Given the description of an element on the screen output the (x, y) to click on. 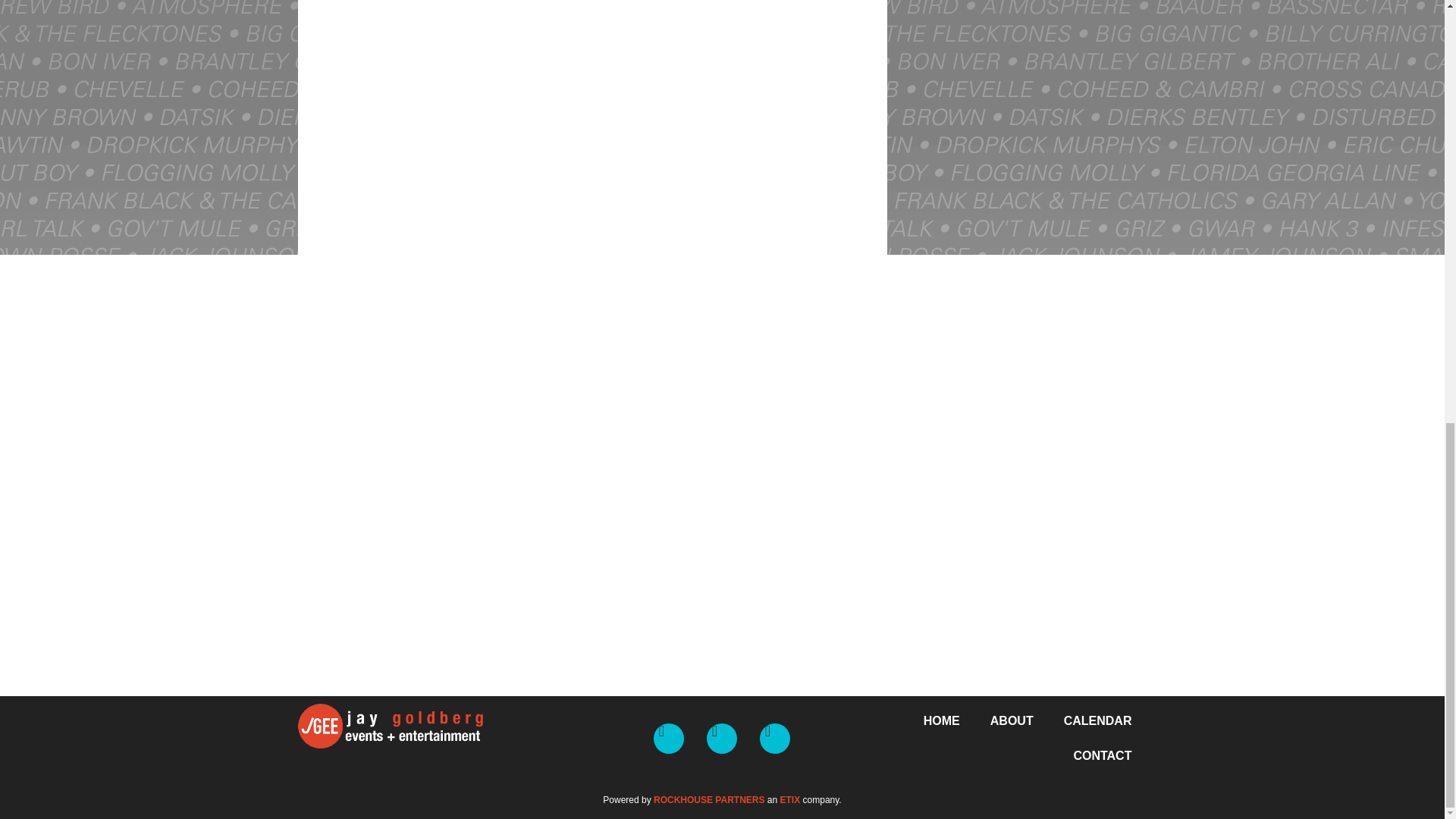
CONTACT (1102, 755)
ABOUT (1011, 720)
CALENDAR (1097, 720)
HOME (941, 720)
